Given the description of an element on the screen output the (x, y) to click on. 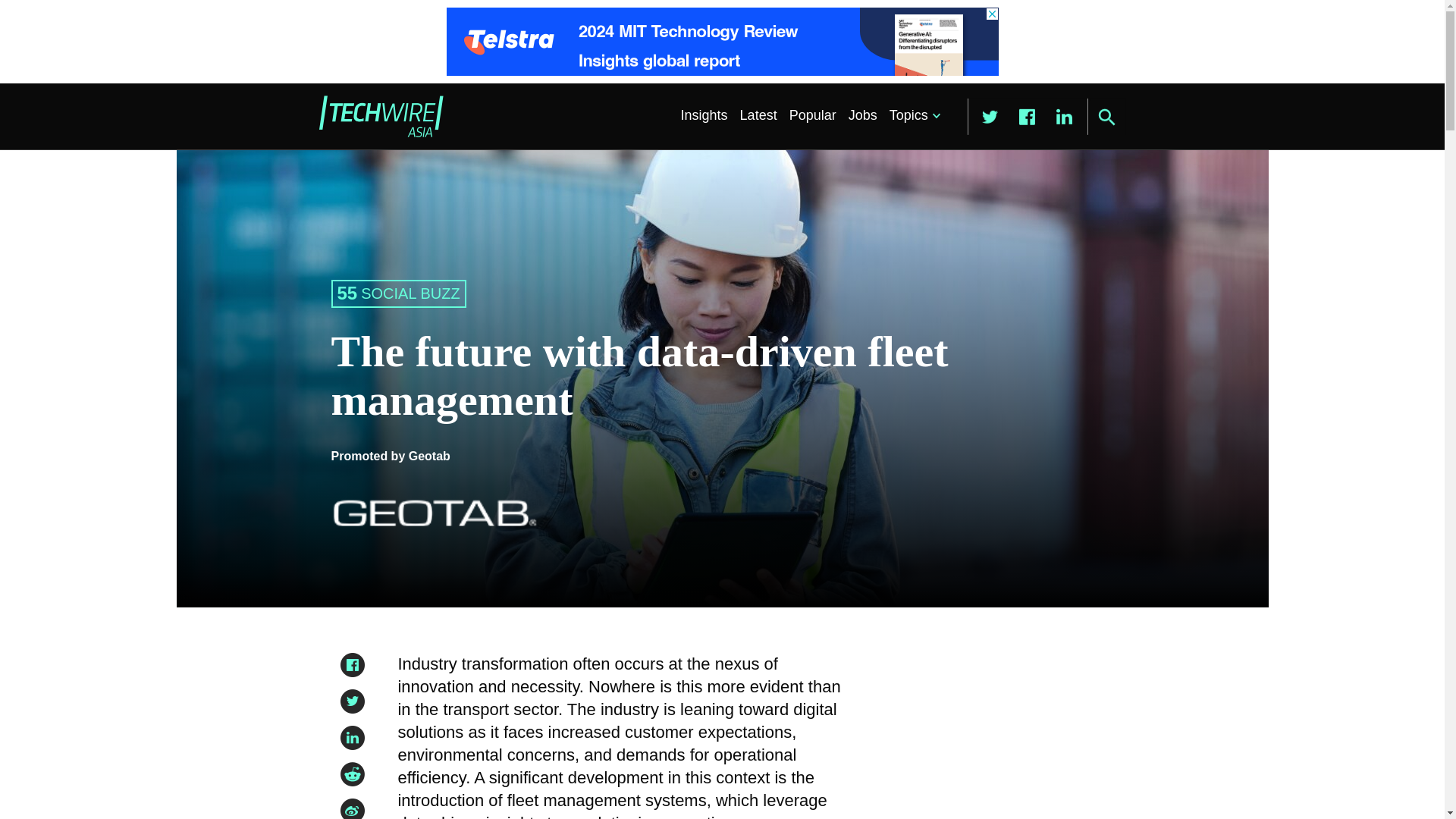
3rd party ad content (721, 41)
Insights (704, 115)
Jobs (863, 115)
Popular (813, 115)
Topics (911, 115)
3rd party ad content (988, 735)
Submit (1106, 116)
Latest (758, 115)
Submit (1106, 116)
